Given the description of an element on the screen output the (x, y) to click on. 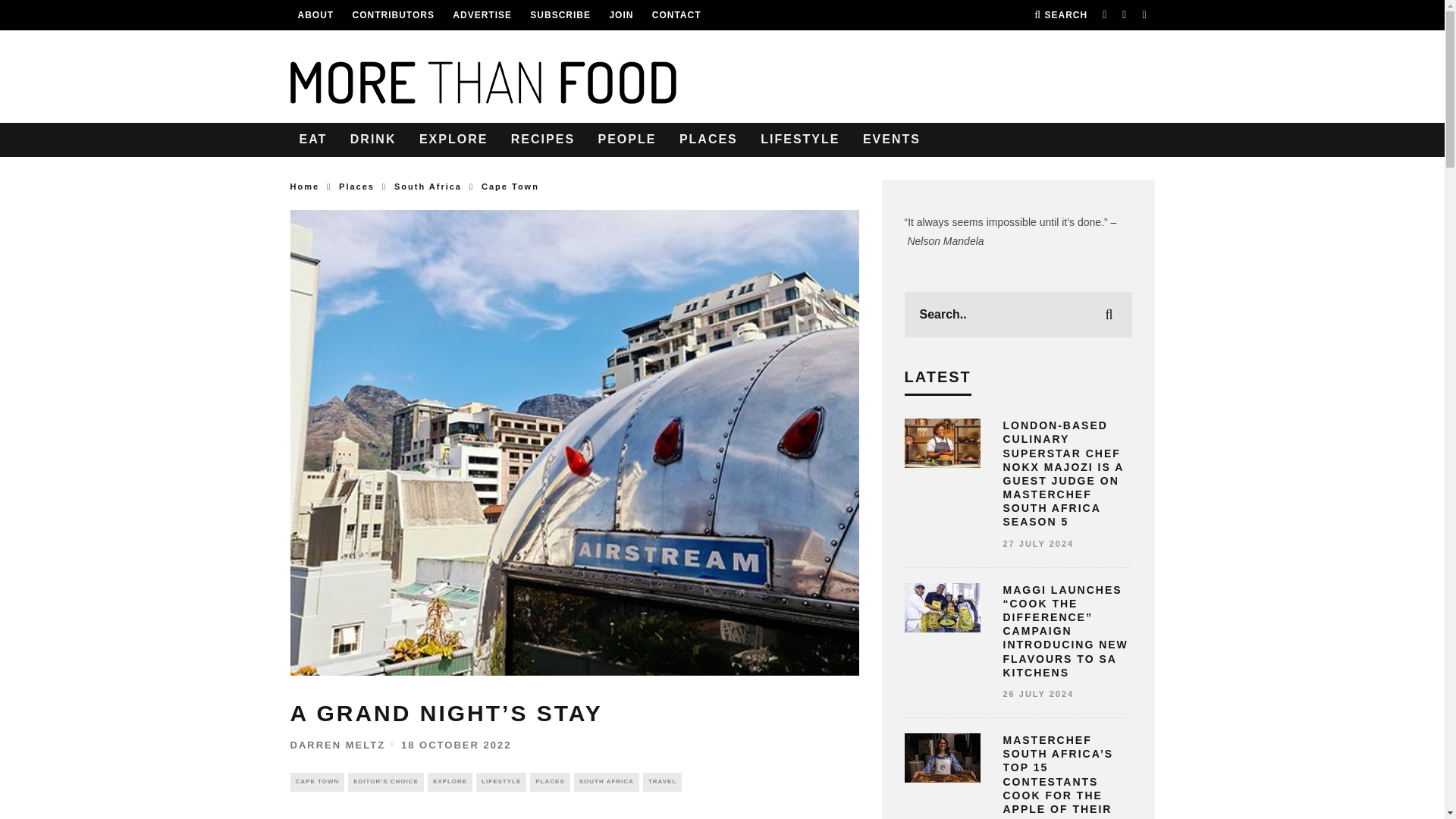
ABOUT (315, 15)
CONTACT (676, 15)
View all posts in Travel (662, 782)
Search (1060, 15)
ADVERTISE (482, 15)
View all posts in South Africa (427, 185)
CONTRIBUTORS (392, 15)
SUBSCRIBE (560, 15)
View all posts in Places (549, 782)
View all posts in Places (356, 185)
View all posts in Cape Town (509, 185)
View all posts in Explore (449, 782)
SEARCH (1060, 15)
View all posts in Editor's Choice (385, 782)
View all posts in Lifestyle (500, 782)
